Given the description of an element on the screen output the (x, y) to click on. 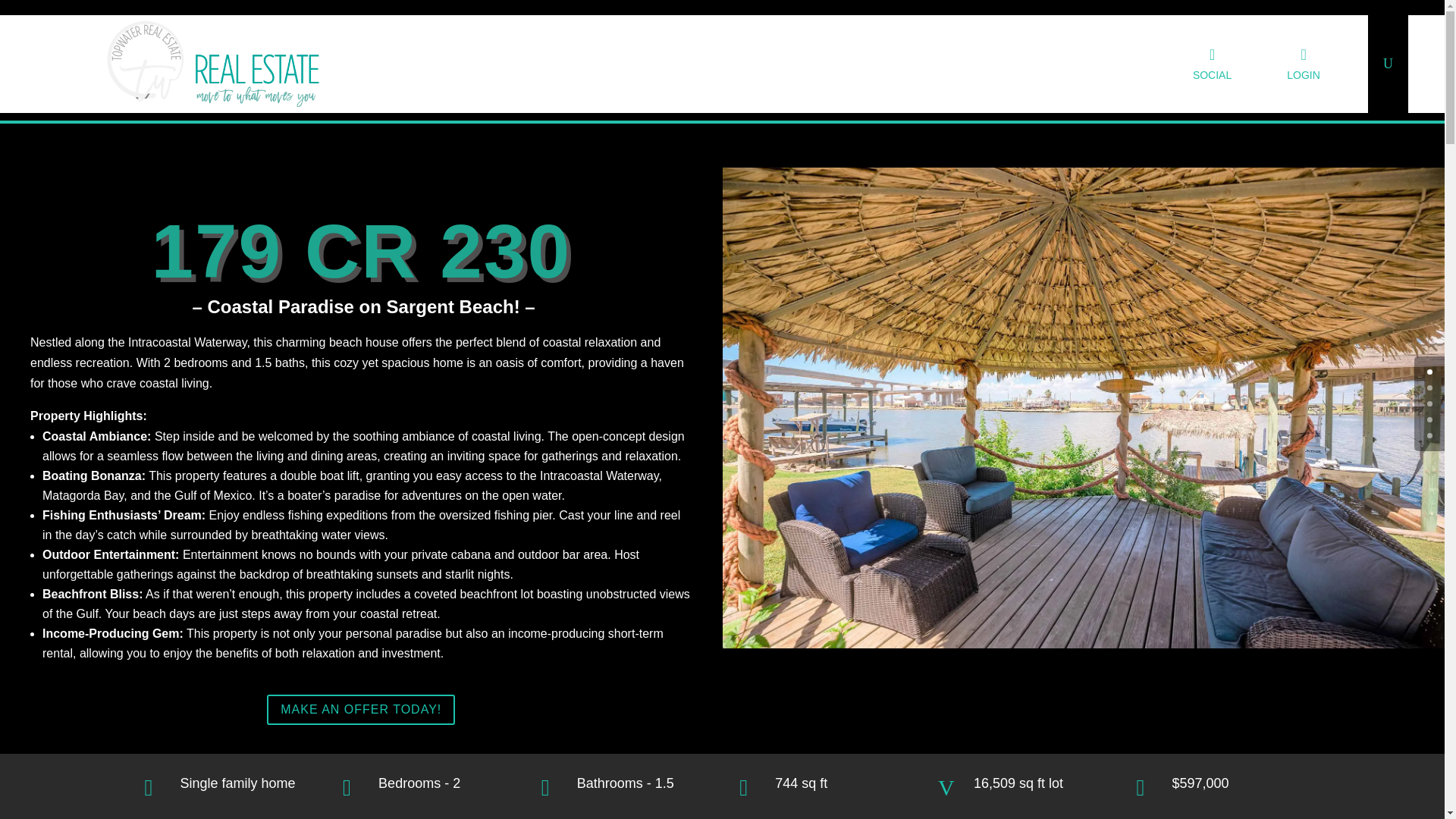
ABOUT (539, 64)
RENTALS (770, 64)
